Given the description of an element on the screen output the (x, y) to click on. 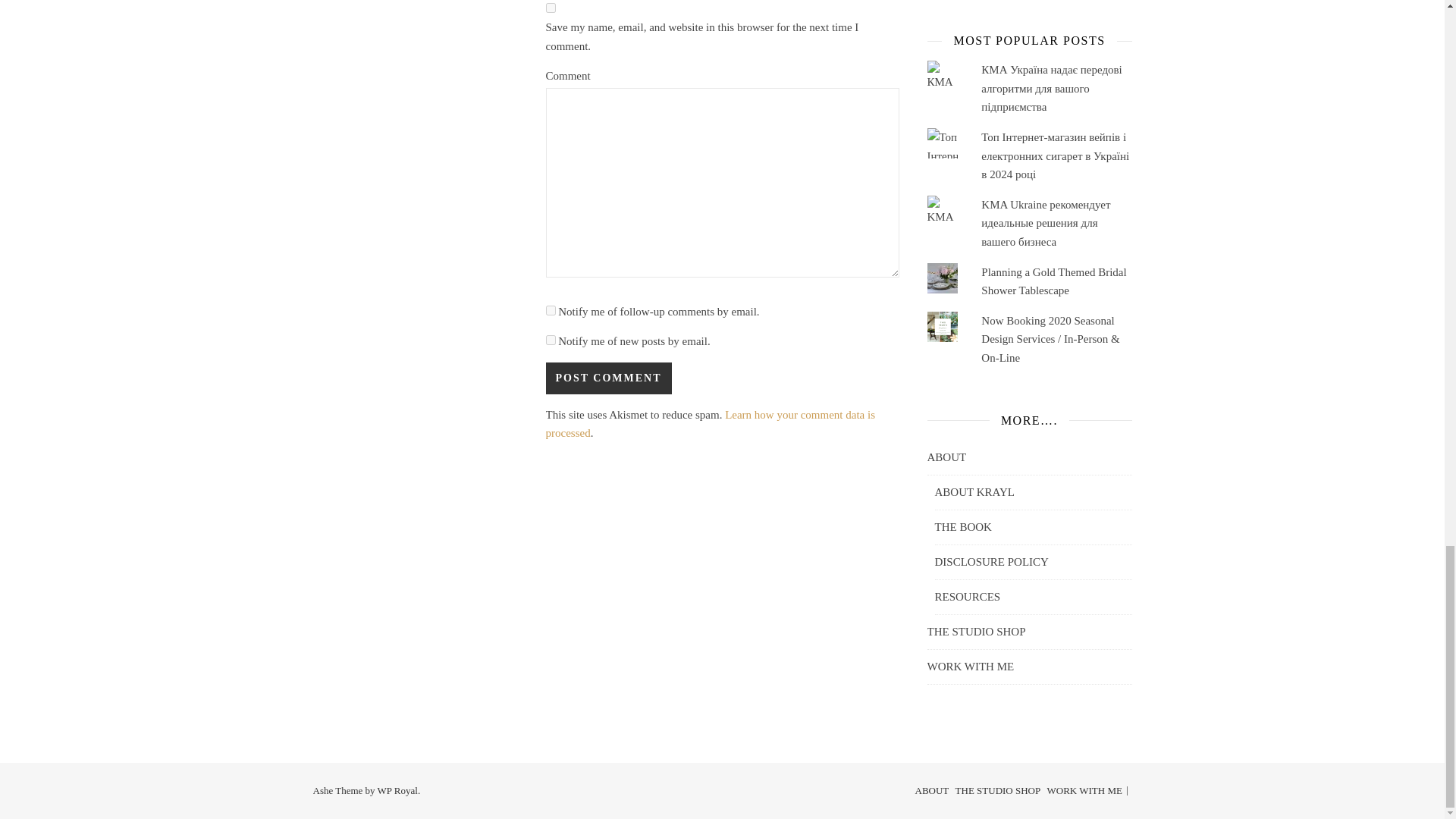
subscribe (551, 339)
Post Comment (608, 377)
yes (551, 8)
Planning a Gold Themed Bridal Shower Tablescape (1053, 281)
subscribe (551, 310)
